Given the description of an element on the screen output the (x, y) to click on. 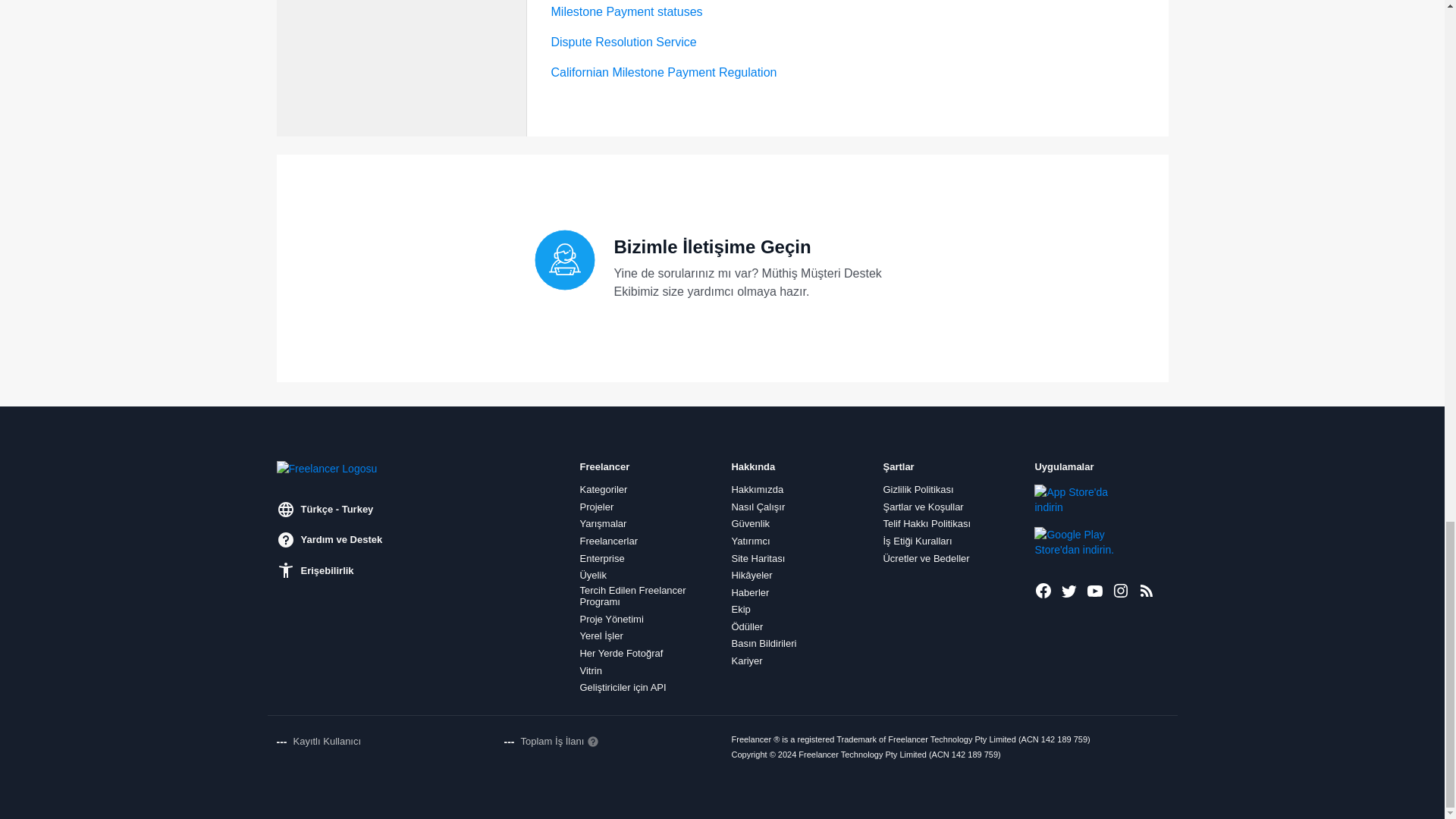
Youtube'da Freelancer (1094, 590)
Kategoriler (603, 490)
Enterprise (601, 558)
Projeler (595, 507)
Twitter'da Freelancer (1068, 590)
Freelancerlar (608, 541)
Google Play'den Edinin (1085, 542)
Californian Milestone Payment Regulation (663, 72)
Milestone Payment statuses (625, 11)
En Son Projeler (1146, 590)
